Given the description of an element on the screen output the (x, y) to click on. 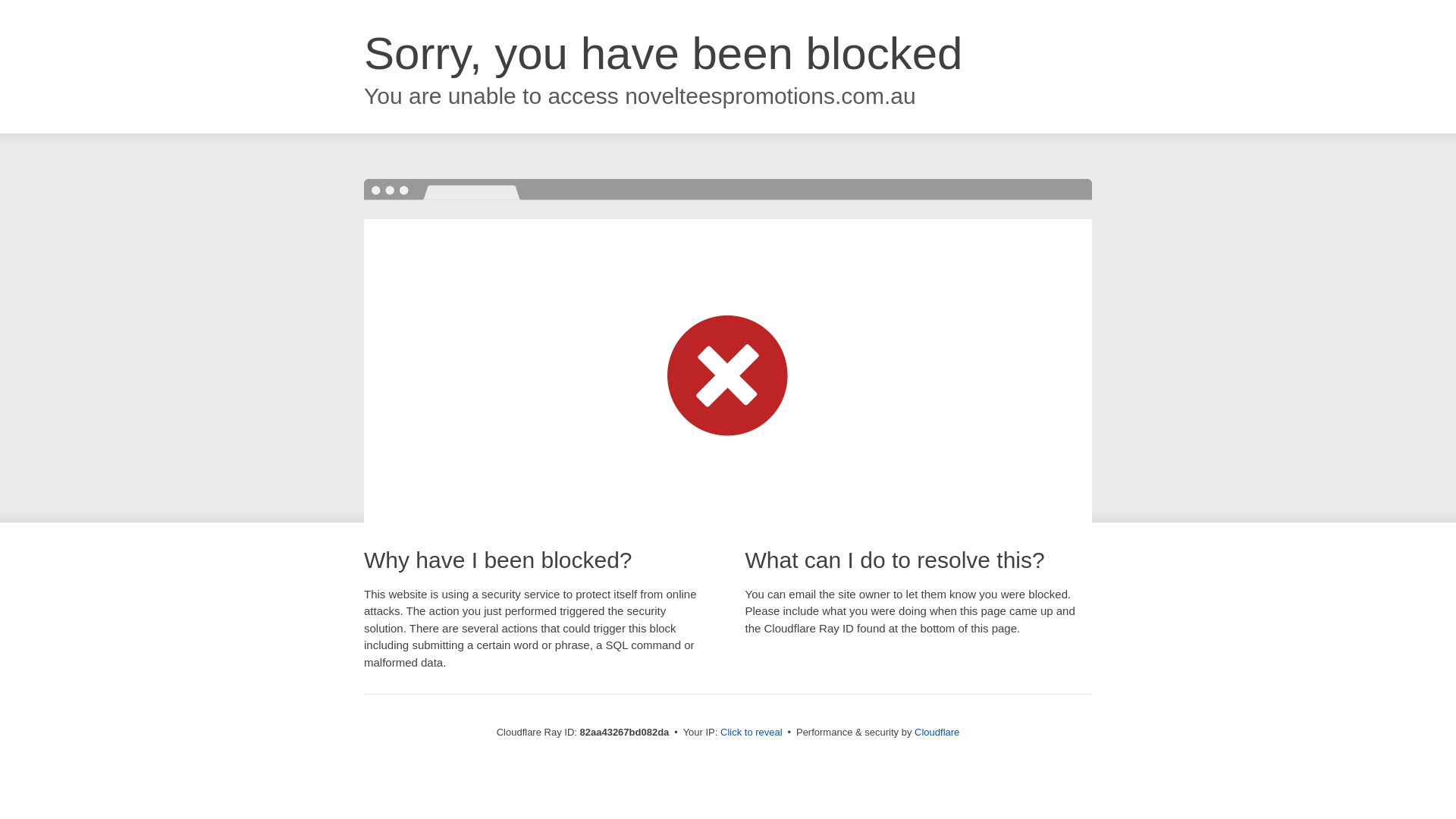
Click to reveal Element type: text (751, 732)
Cloudflare Element type: text (936, 731)
